Given the description of an element on the screen output the (x, y) to click on. 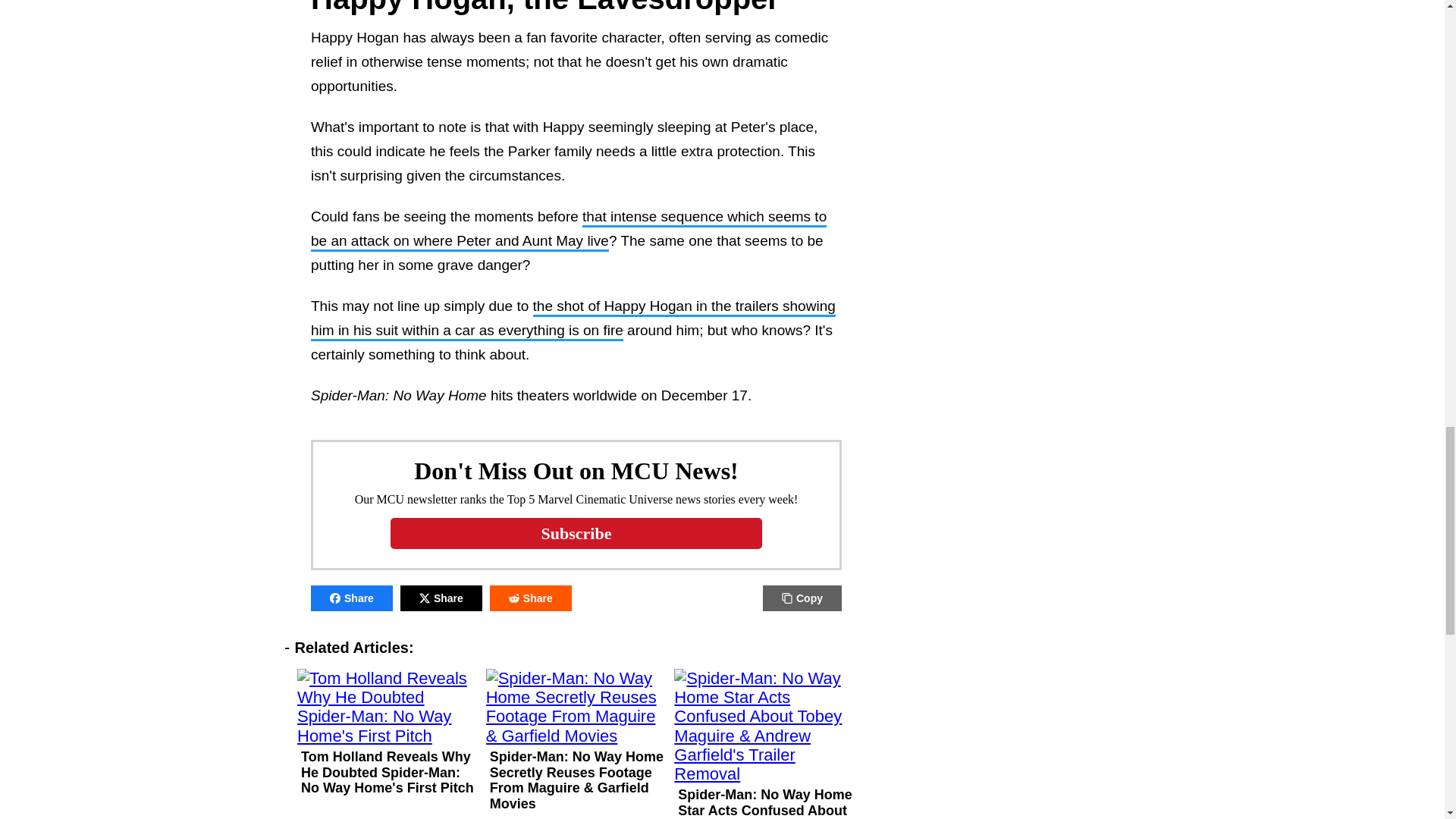
Share on Reddit (530, 597)
